Given the description of an element on the screen output the (x, y) to click on. 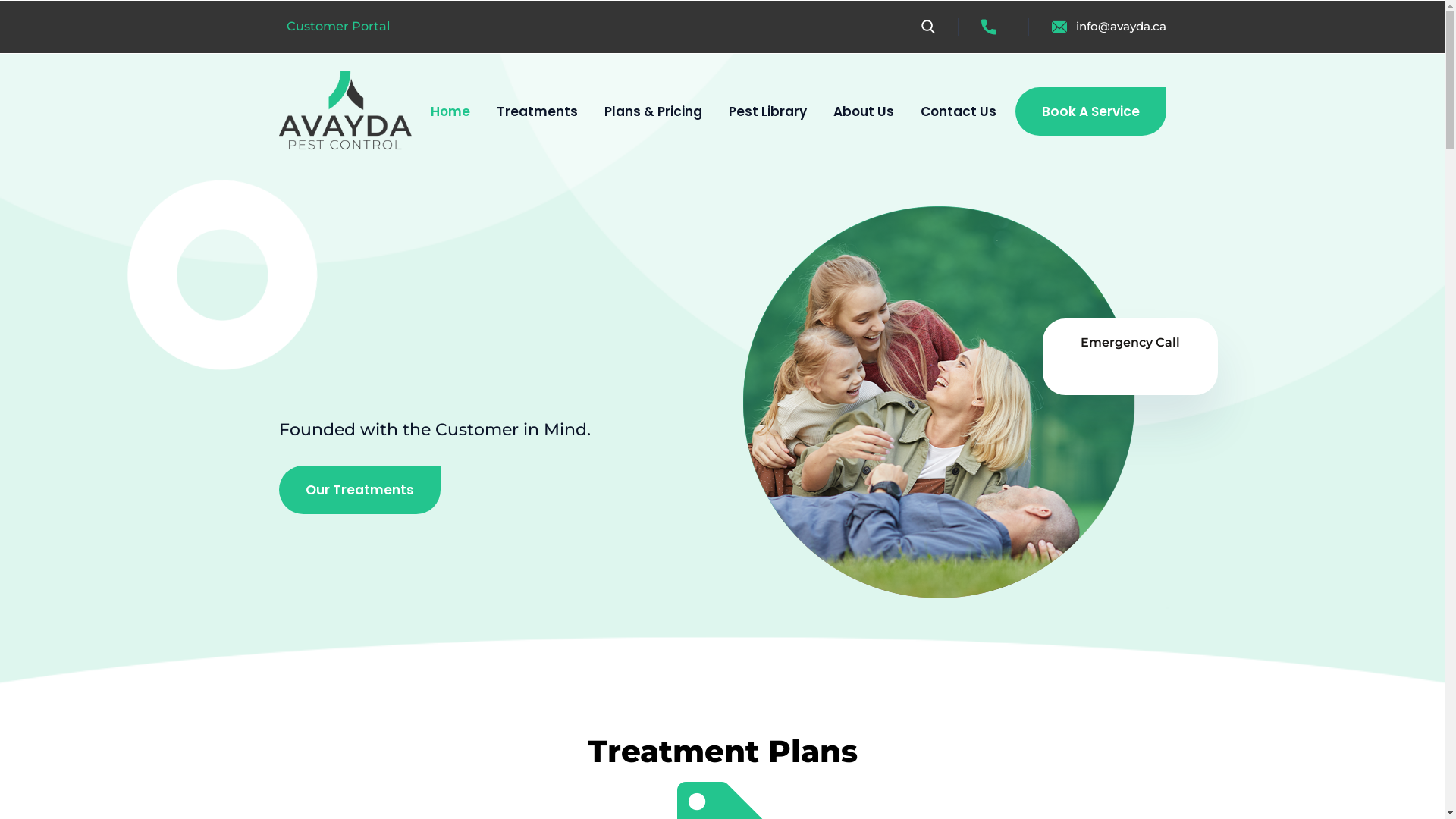
About Us Element type: text (862, 111)
Treatments Element type: text (536, 111)
Pest Library Element type: text (767, 111)
Contact Us Element type: text (958, 111)
Home Element type: text (450, 111)
Plans & Pricing Element type: text (652, 111)
Our Treatments Element type: text (359, 489)
info@avayda.ca Element type: text (1108, 25)
Customer Portal Element type: text (338, 25)
Book A Service Element type: text (1089, 111)
